Given the description of an element on the screen output the (x, y) to click on. 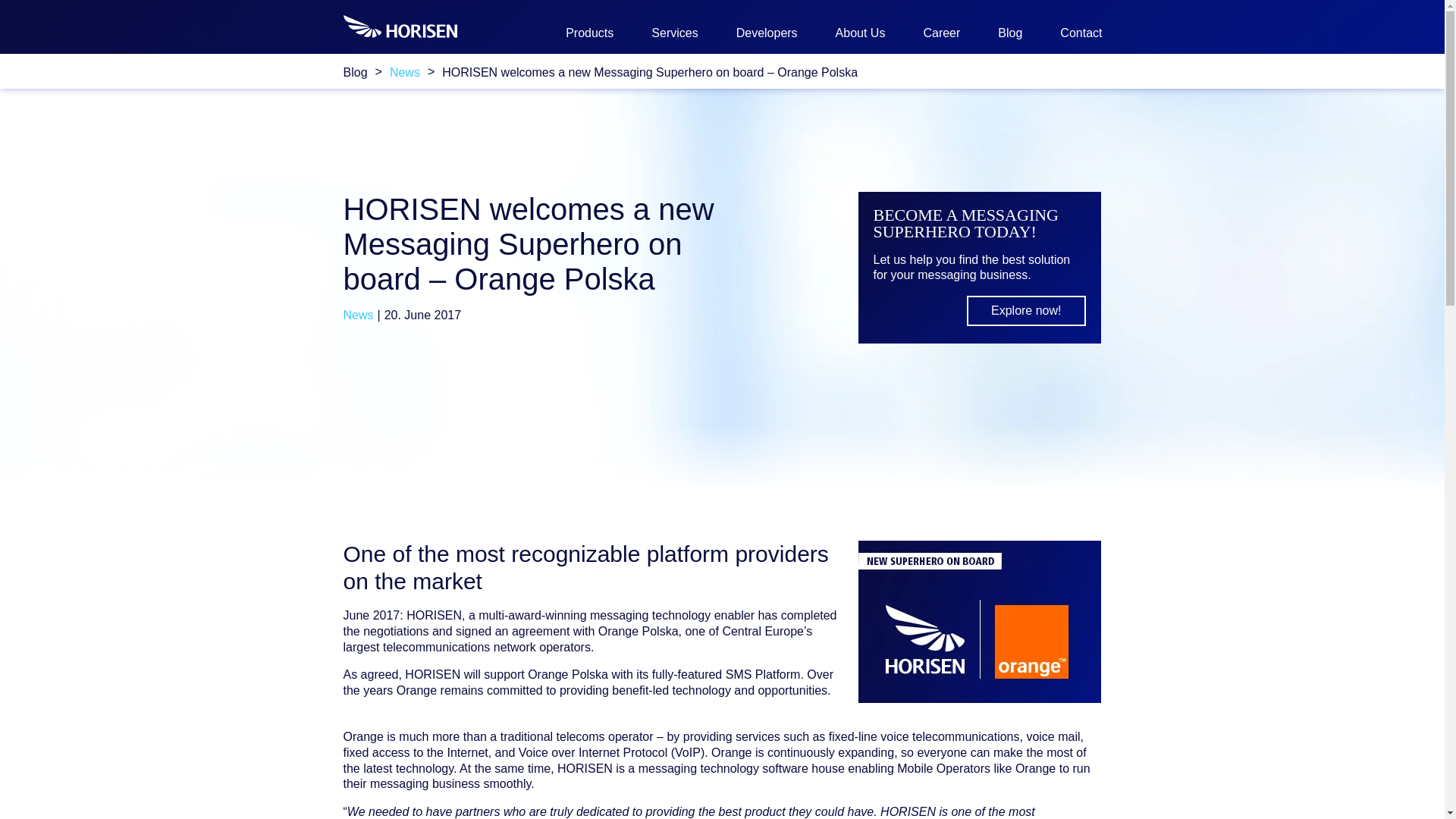
News (405, 72)
Services (673, 32)
new-messaging-superhero-orange (979, 621)
Developers (766, 32)
Career (941, 32)
Contact (1080, 32)
News (357, 314)
Blog (1009, 32)
Explore now! (1026, 310)
About Us (860, 32)
